Given the description of an element on the screen output the (x, y) to click on. 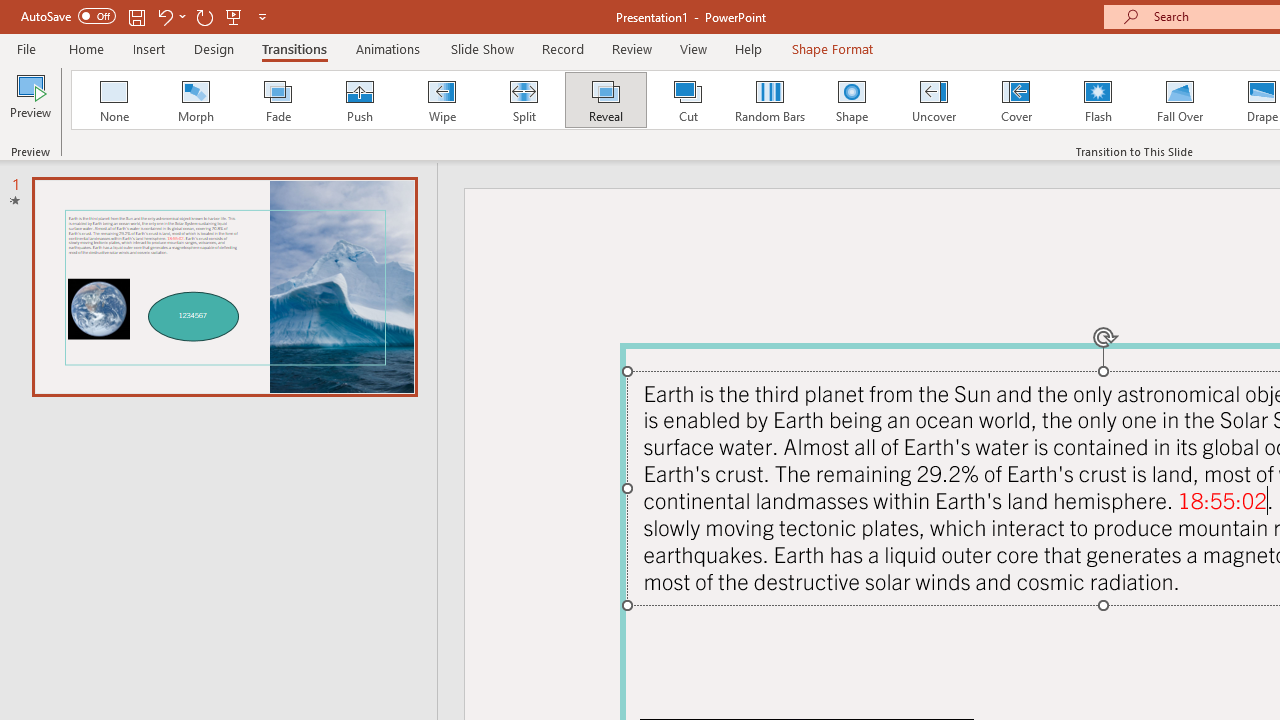
Wipe (441, 100)
Push (359, 100)
Flash (1098, 100)
Fade (277, 100)
